Given the description of an element on the screen output the (x, y) to click on. 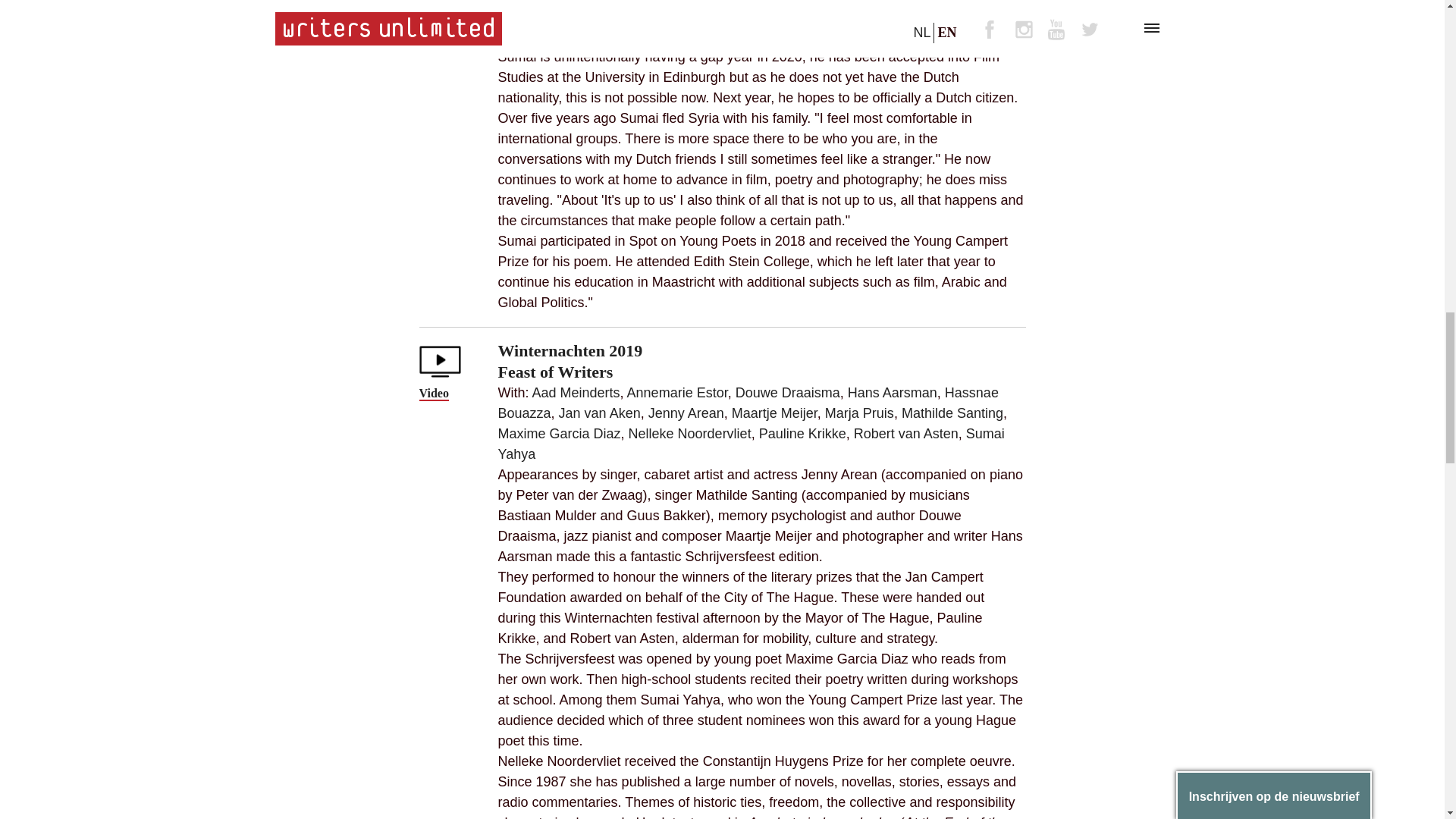
Video (433, 394)
Feast of Writers (554, 371)
Douwe Draaisma (787, 392)
Annemarie Estor (677, 392)
Hans Aarsman (892, 392)
Aad Meinderts (576, 392)
